Given the description of an element on the screen output the (x, y) to click on. 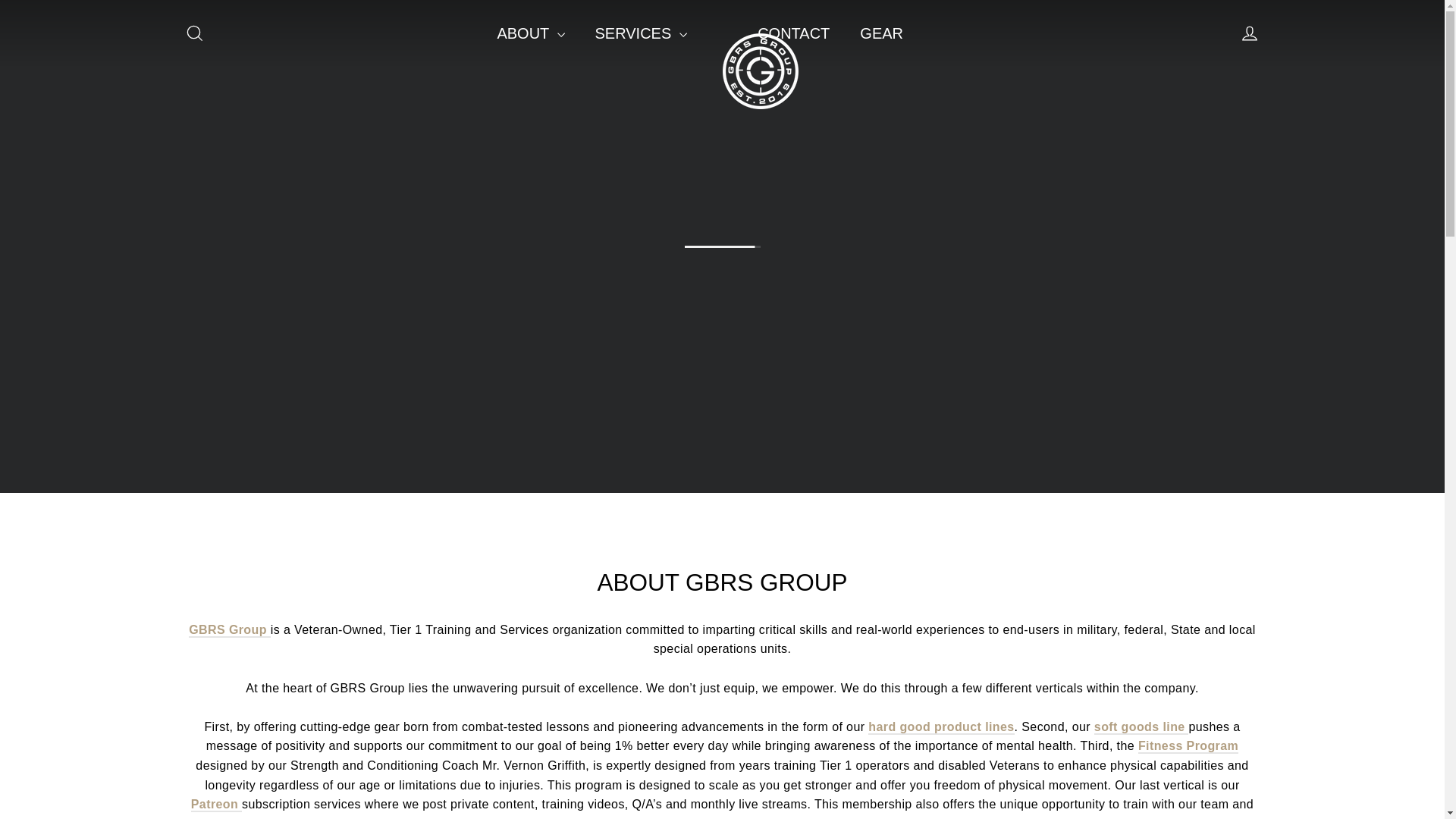
GBRS Group Human Performance Program (1188, 746)
GBRS Group Gear Hard Goods (940, 727)
SEARCH (194, 33)
GBRS Group Gear Soft Goods (1141, 727)
GBRS Group Knowledge Transfer (215, 804)
SERVICES (640, 32)
ABOUT (530, 32)
